Given the description of an element on the screen output the (x, y) to click on. 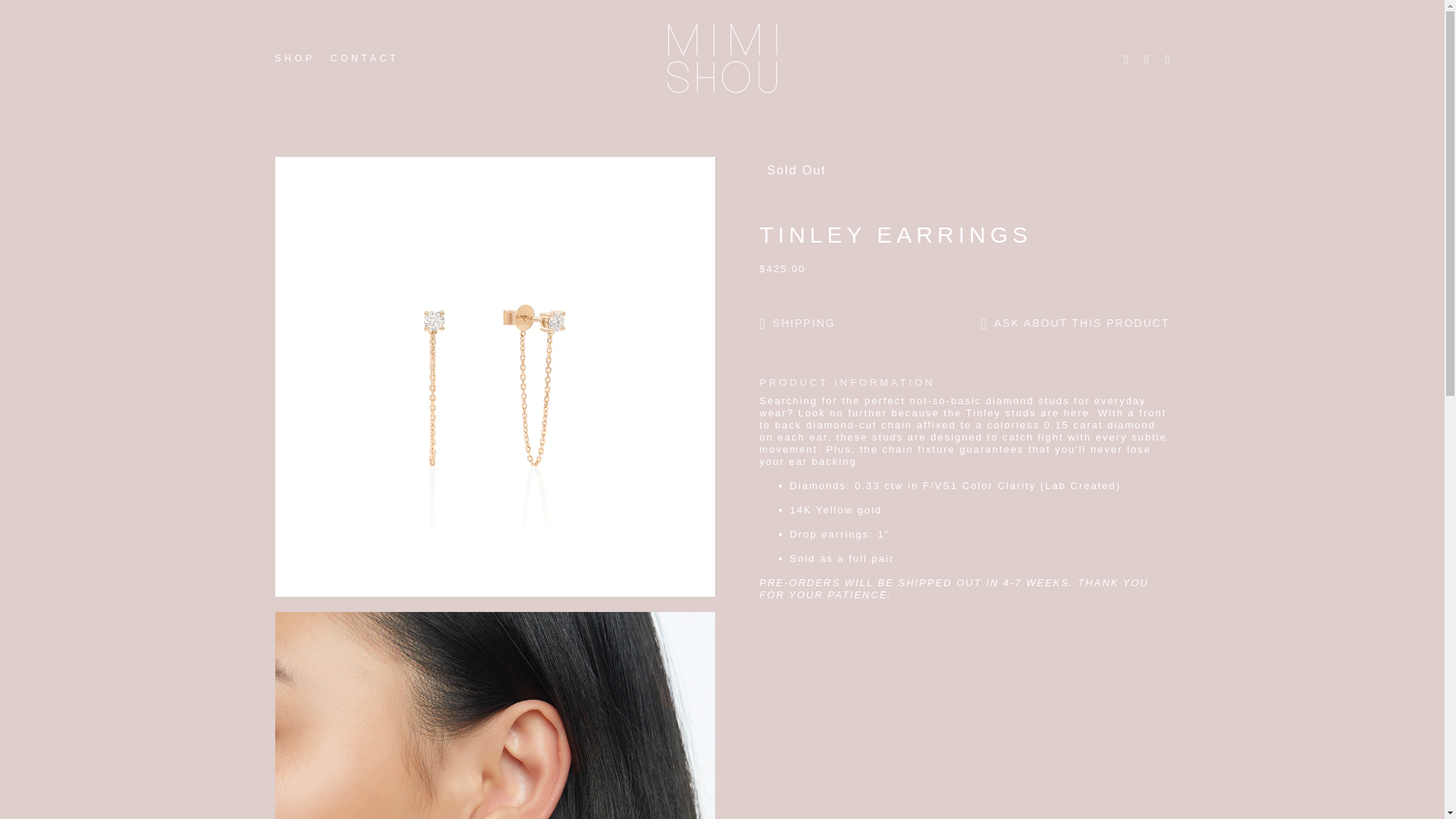
CONTACT (360, 58)
SHIPPING (802, 324)
SHOP (292, 58)
ASK ABOUT THIS PRODUCT (1070, 324)
